Given the description of an element on the screen output the (x, y) to click on. 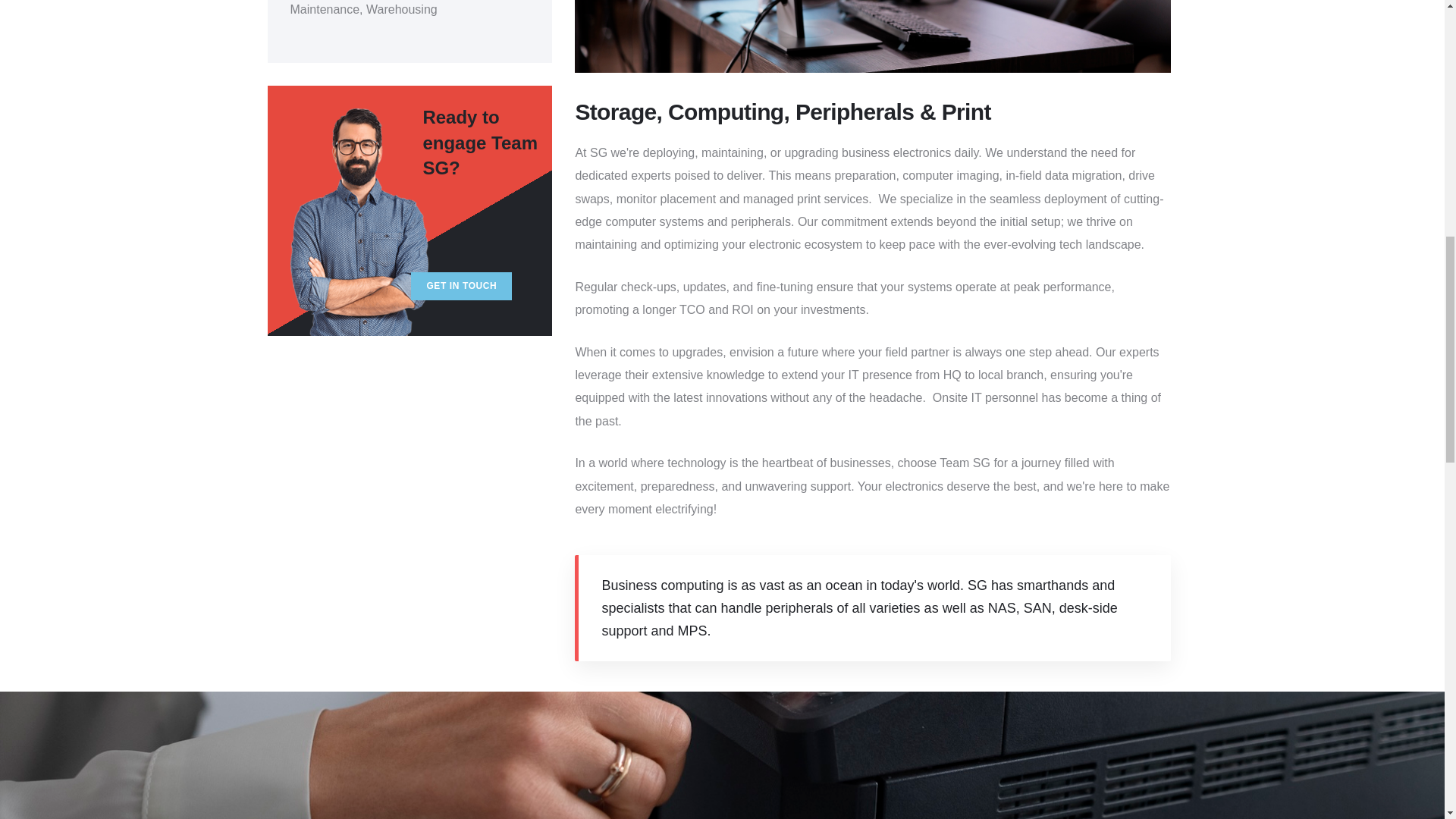
GET IN TOUCH (461, 285)
